Given the description of an element on the screen output the (x, y) to click on. 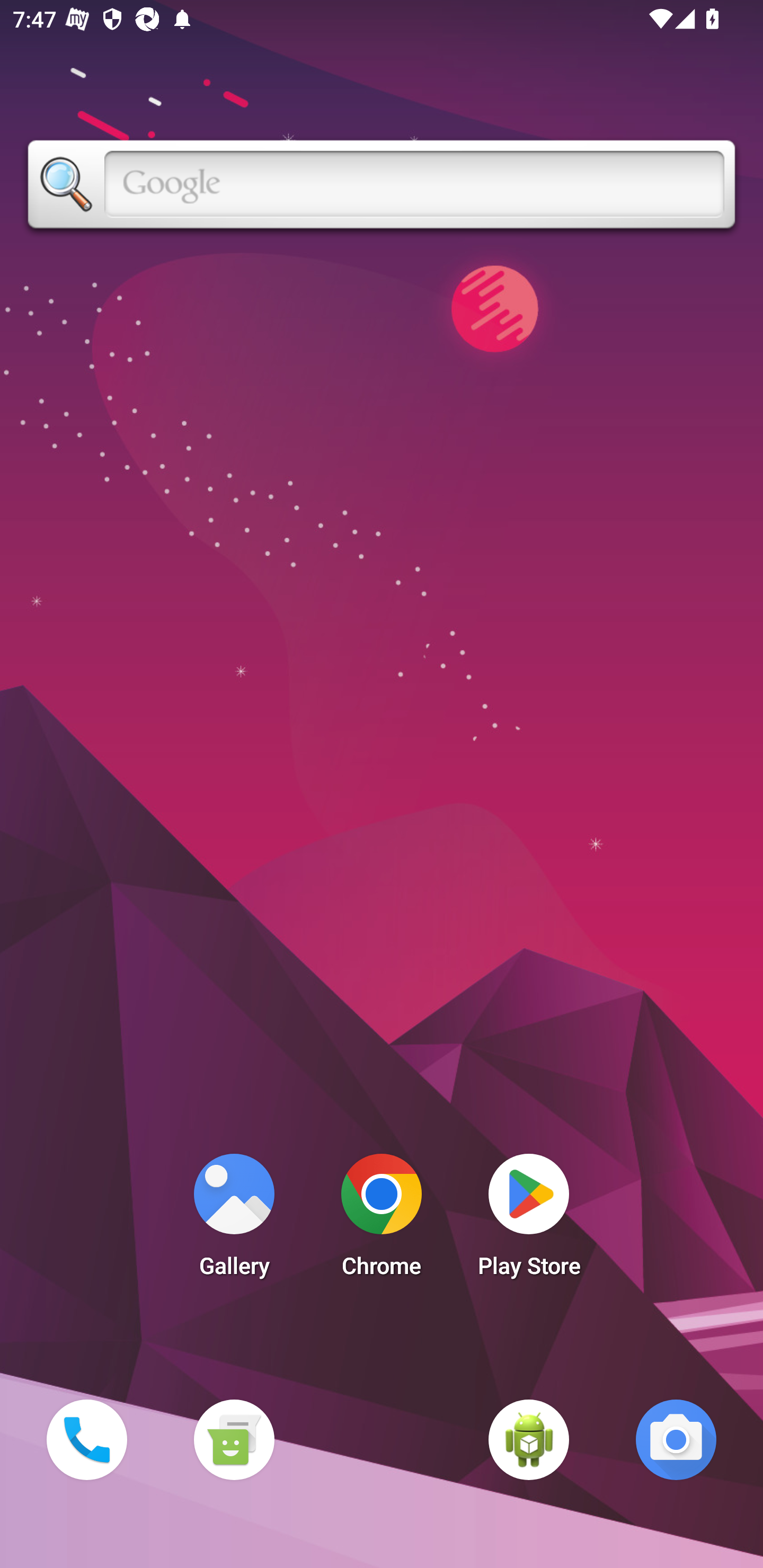
Gallery (233, 1220)
Chrome (381, 1220)
Play Store (528, 1220)
Phone (86, 1439)
Messaging (233, 1439)
WebView Browser Tester (528, 1439)
Camera (676, 1439)
